Given the description of an element on the screen output the (x, y) to click on. 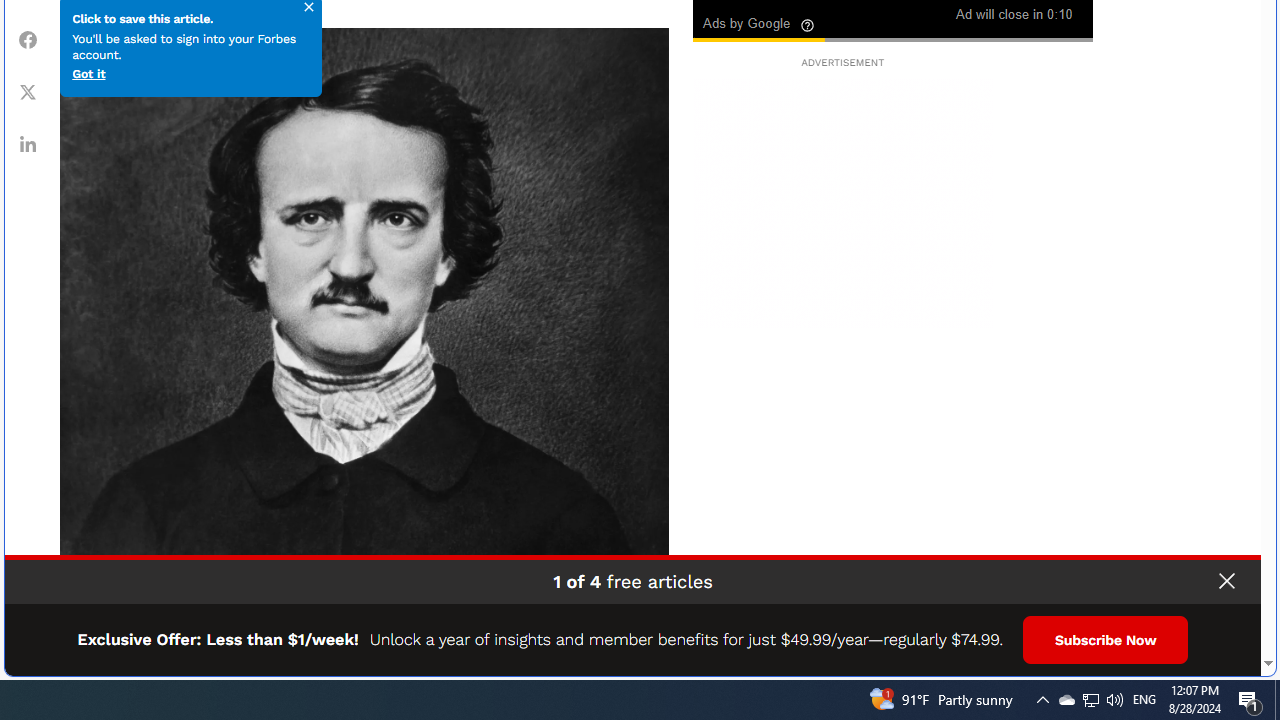
Subscribe Now (1105, 639)
Class: cnx-color-icon (759, 12)
Class: fs-icon fs-icon--Facebook (27, 39)
Class: fs-icon fs-icon--xCorp (28, 91)
Got it (88, 73)
Seek (892, 38)
Share Linkedin (28, 143)
Class: article-sharing__item (28, 143)
Portrait of Edgar Allan Poe. (364, 332)
Class: fs-icon fs-icon--linkedin (28, 143)
Share Facebook (28, 39)
Terms (1242, 653)
Class: close-button unbutton (1226, 581)
Share Twitter (28, 91)
